Given the description of an element on the screen output the (x, y) to click on. 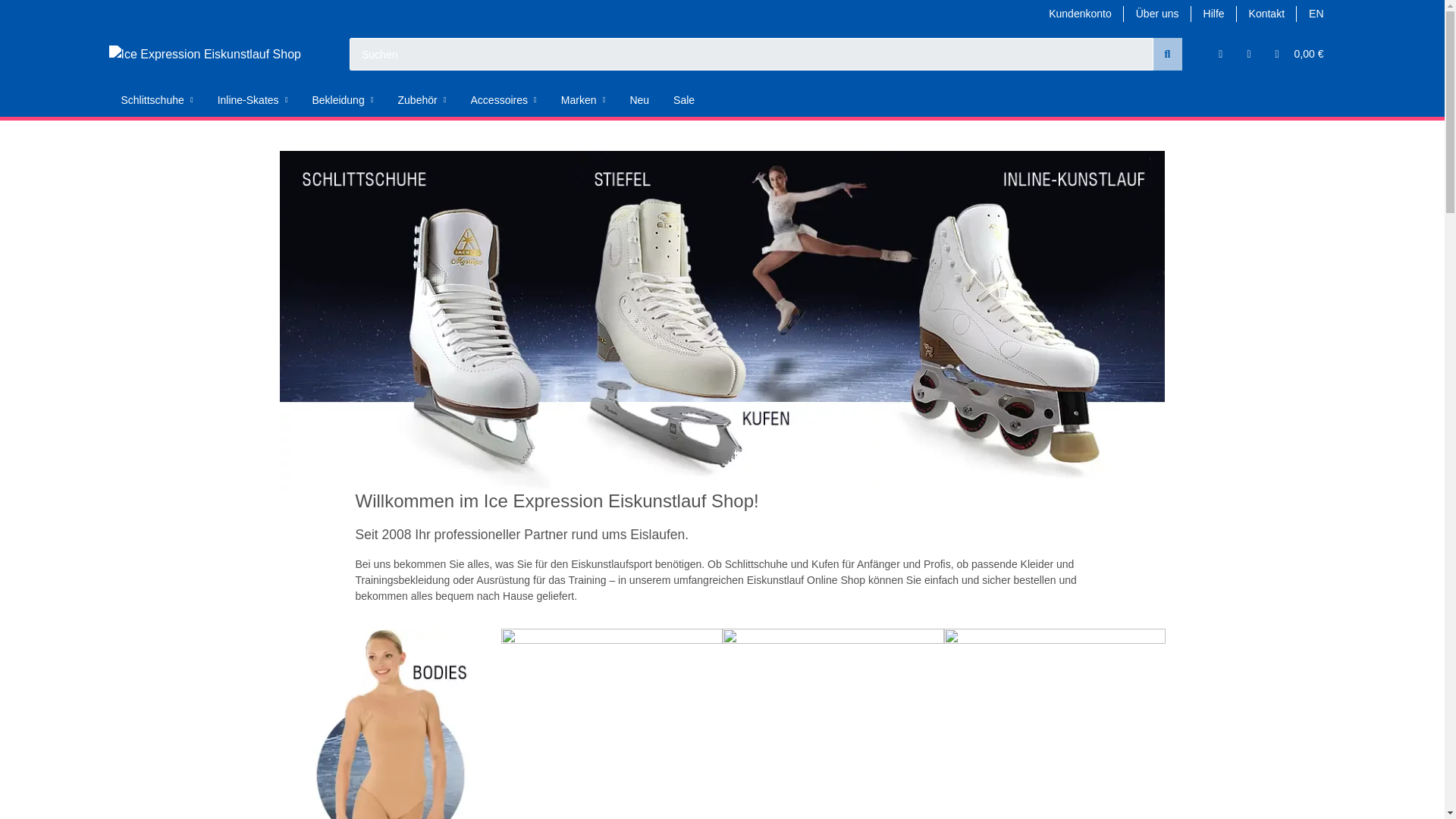
Inline-Skates (252, 100)
Kontakt (1266, 13)
Marken (582, 100)
Inline-Skates (252, 100)
Bekleidung (342, 100)
Hilfreiche Informationen (1213, 13)
Schlittschuhe (157, 100)
Neu (639, 100)
Sale (683, 100)
Kundenservice (1266, 13)
